Given the description of an element on the screen output the (x, y) to click on. 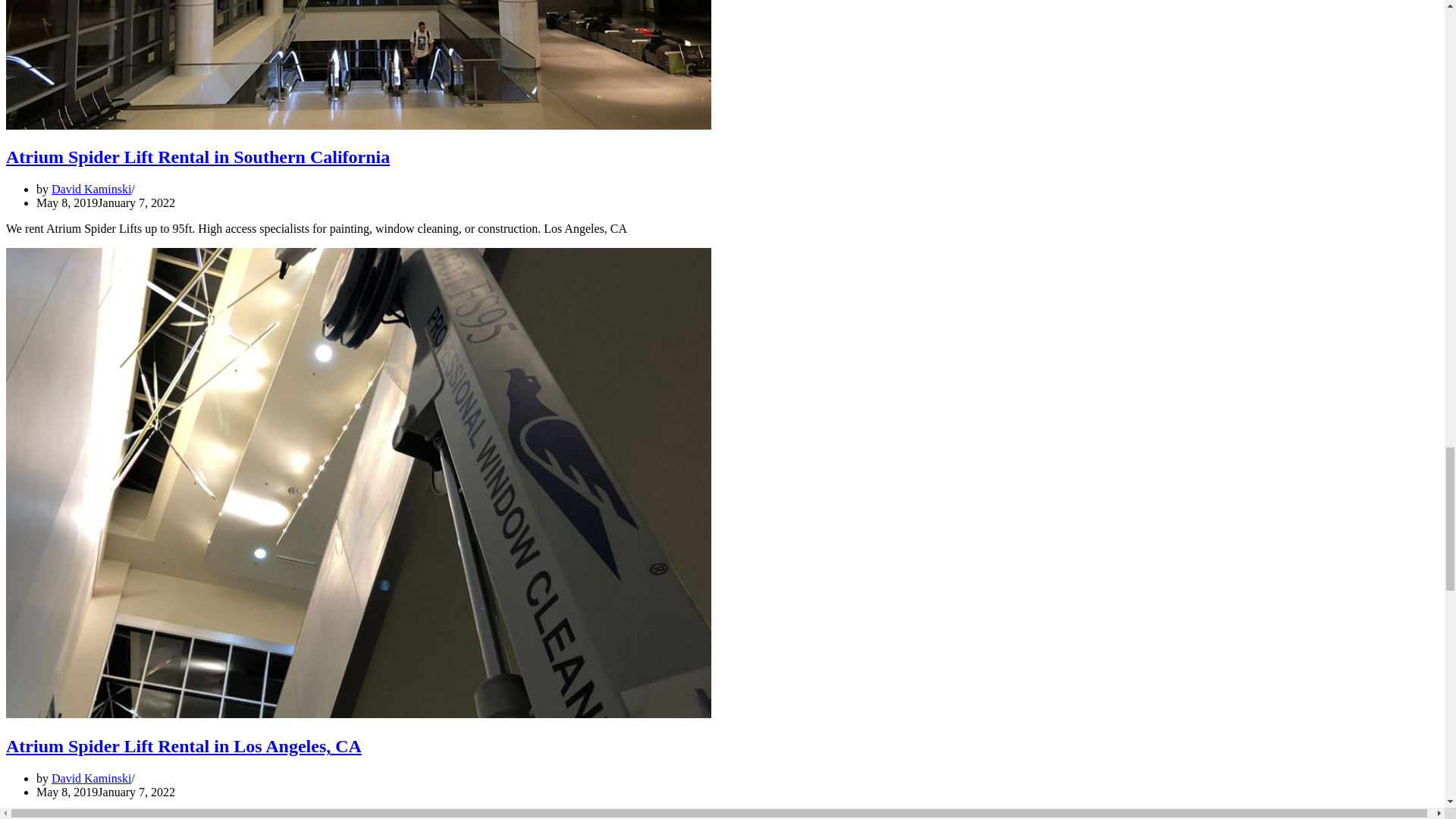
Posts by David Kaminski (90, 778)
David Kaminski (90, 188)
Atrium Spider Lift Rental in Southern California (358, 124)
Posts by David Kaminski (90, 188)
Atrium Spider Lift Rental in Southern California (197, 157)
David Kaminski (90, 778)
Atrium Spider Lift Rental in Los Angeles, CA (358, 713)
Atrium Spider Lift Rental in Los Angeles, CA (183, 745)
